Given the description of an element on the screen output the (x, y) to click on. 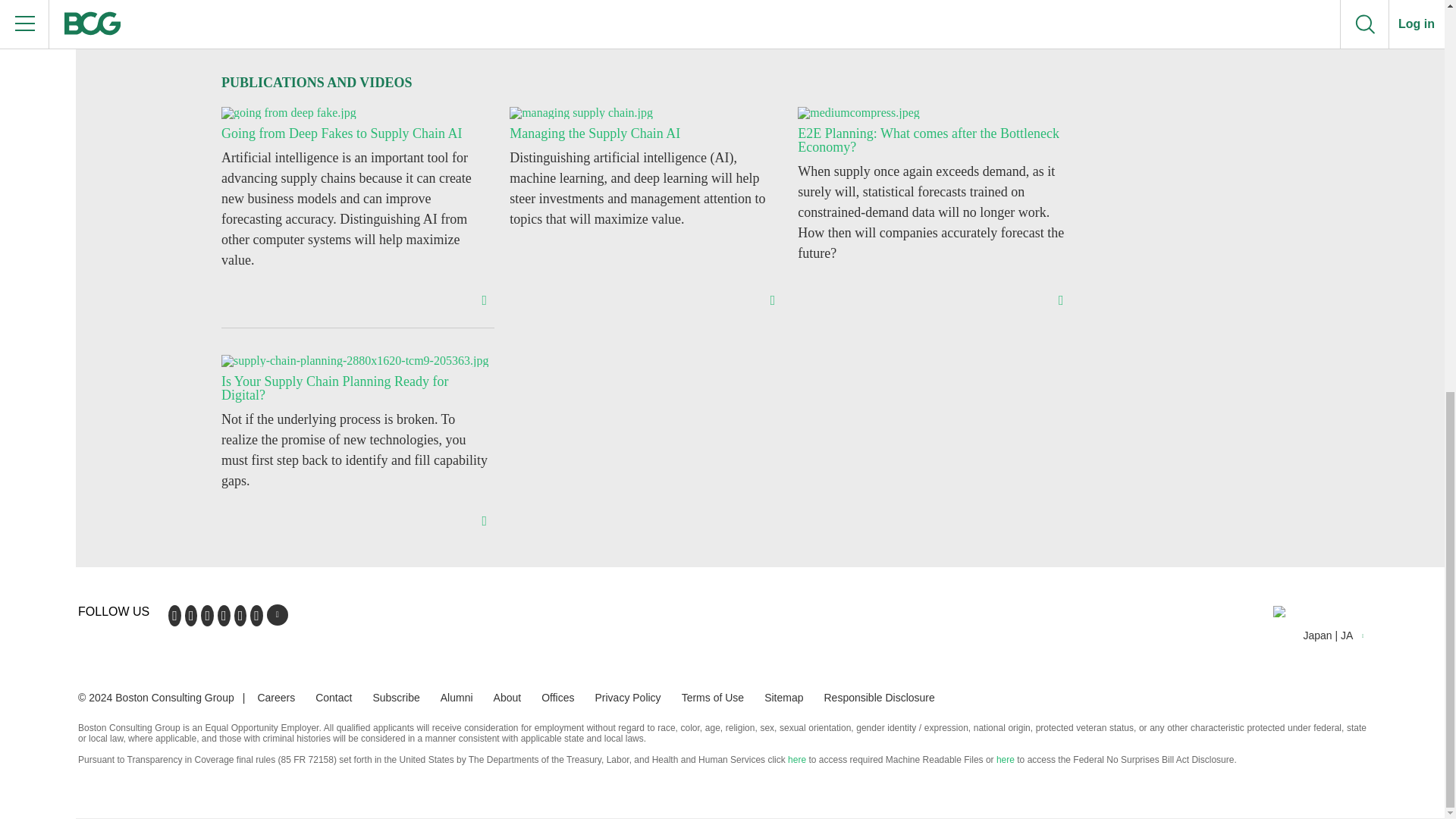
Offices (557, 696)
Alumni (457, 696)
Privacy Policy (627, 696)
Careers (276, 696)
Subscribe (395, 696)
About (507, 696)
Contact (333, 696)
